Given the description of an element on the screen output the (x, y) to click on. 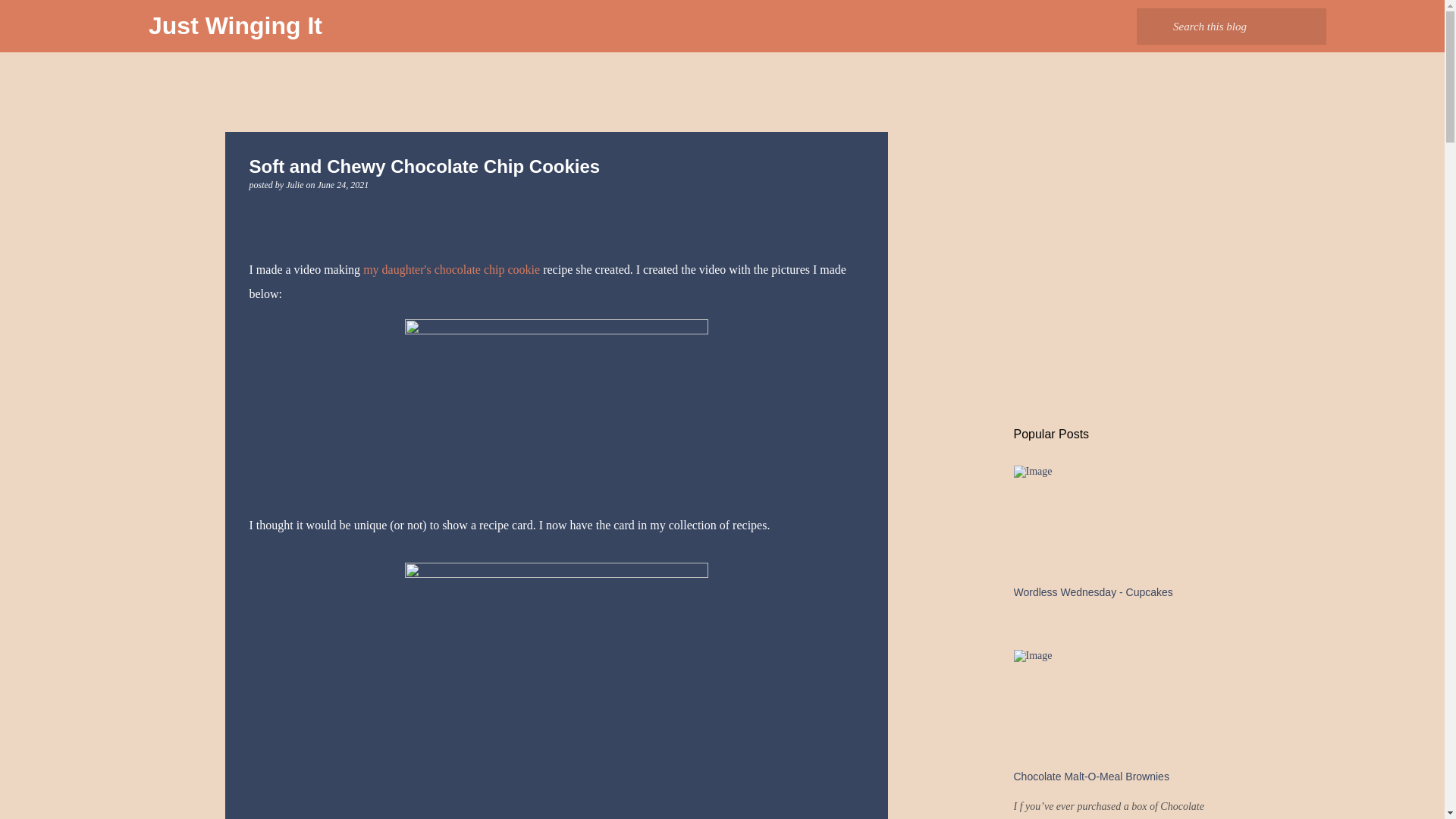
Just Winging It (234, 25)
Julie (295, 184)
author profile (295, 184)
permanent link (342, 184)
my daughter's chocolate chip cookie (451, 269)
June 24, 2021 (342, 184)
